Given the description of an element on the screen output the (x, y) to click on. 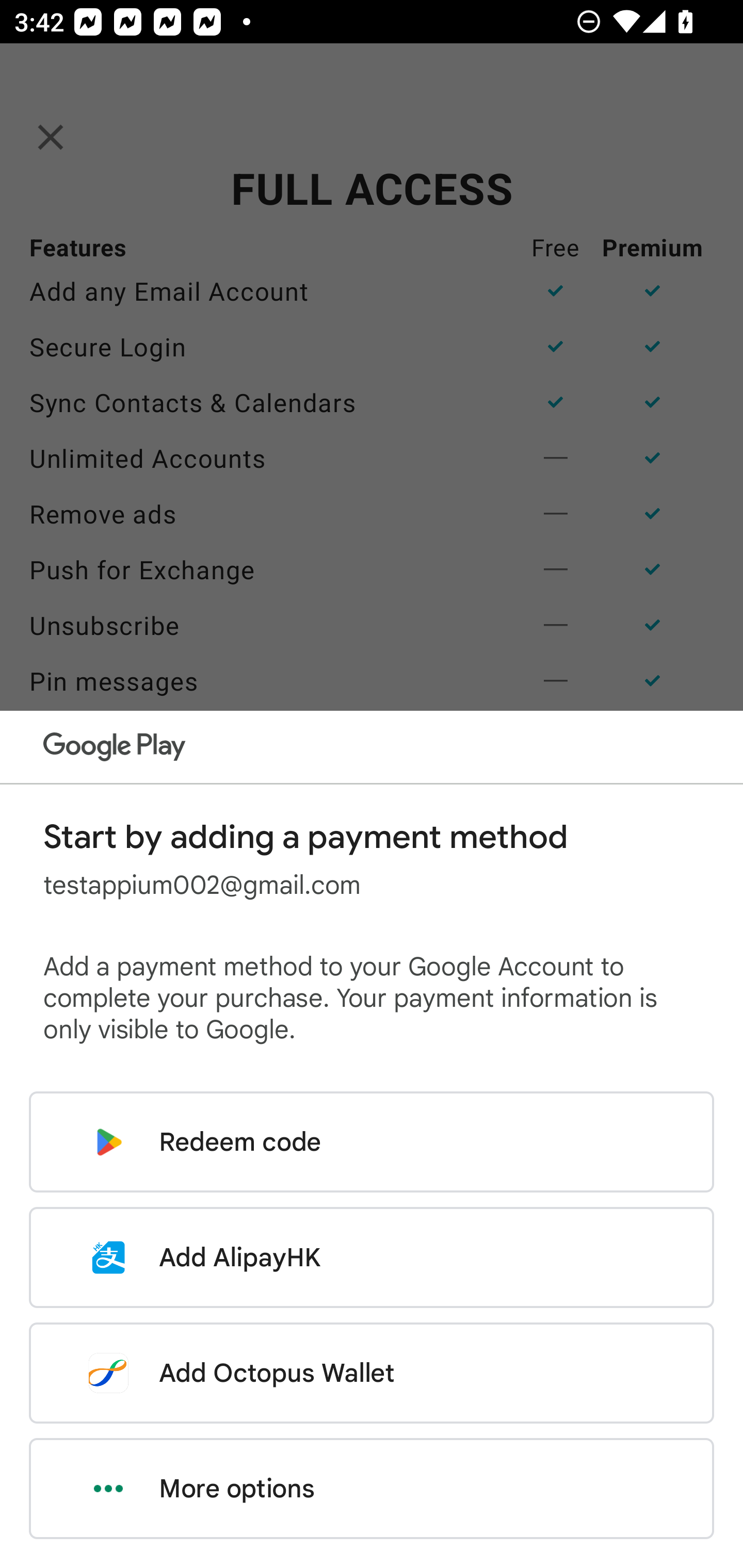
Redeem code (371, 1142)
Add AlipayHK (371, 1257)
Add Octopus Wallet (371, 1372)
More options (371, 1488)
